Given the description of an element on the screen output the (x, y) to click on. 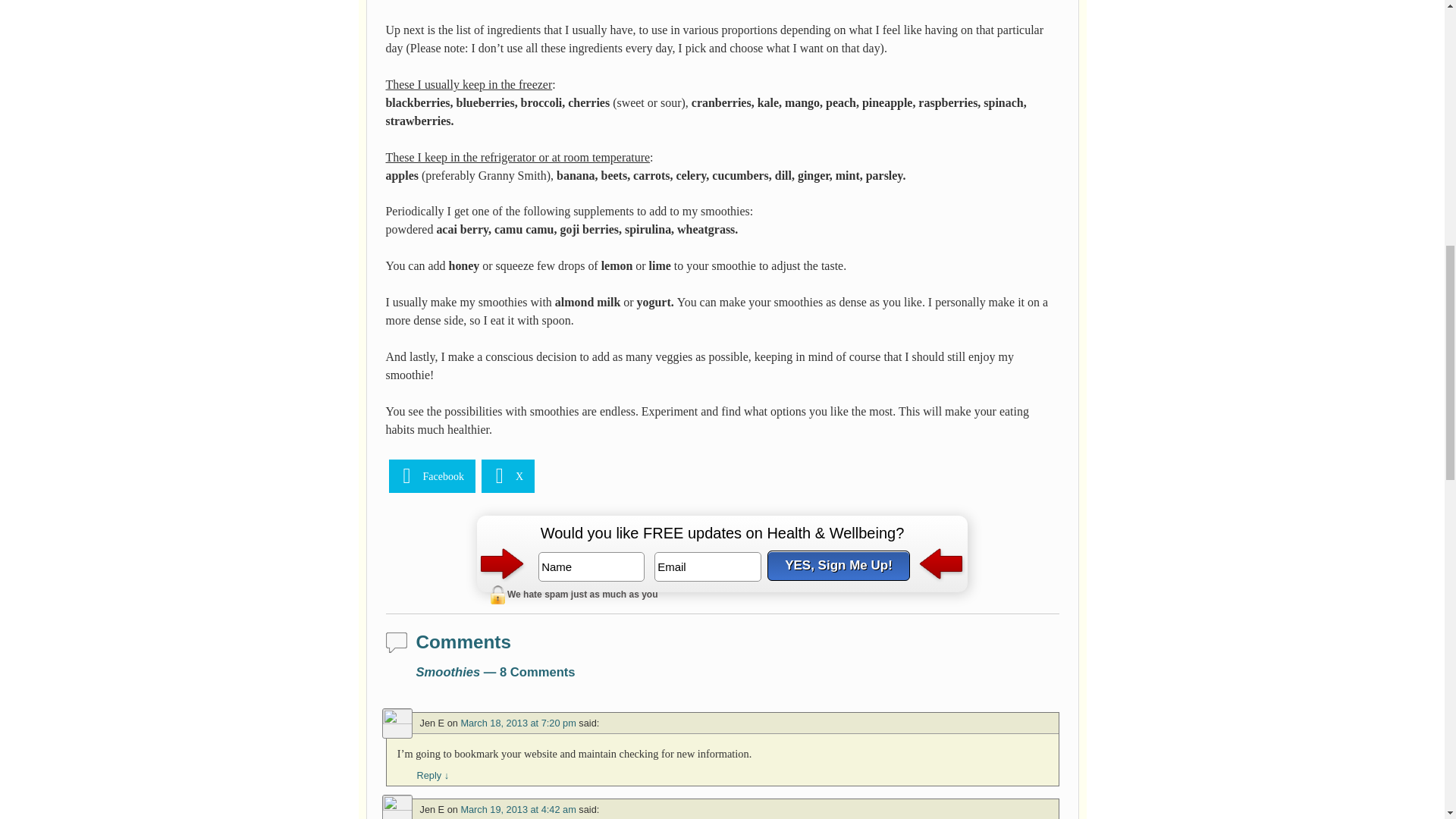
X (507, 476)
Share this article on X (507, 476)
YES, Sign Me Up! (838, 565)
Facebook (431, 476)
Share this article on Facebook (431, 476)
March 18, 2013 at 7:20 pm (517, 722)
Name (591, 566)
Email (707, 566)
March 19, 2013 at 4:42 am (517, 808)
